Given the description of an element on the screen output the (x, y) to click on. 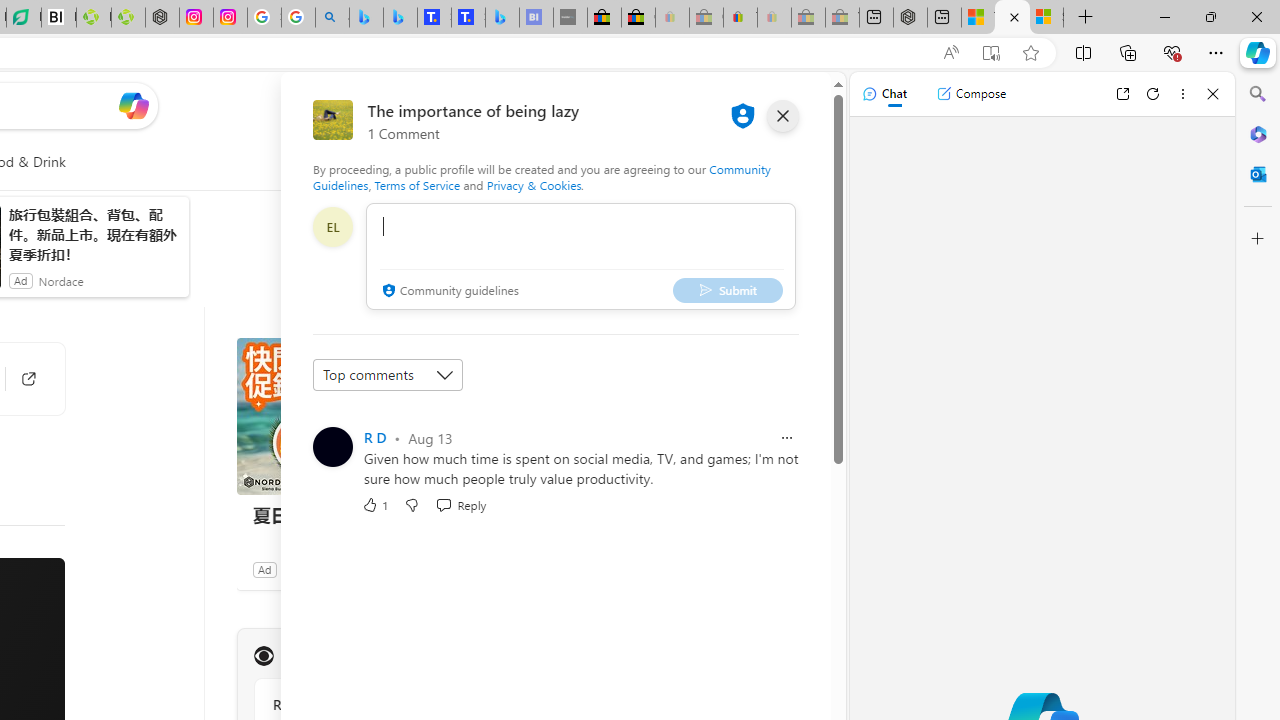
Descarga Driver Updater (127, 17)
Sort comments by (388, 374)
CBS News (263, 655)
Microsoft Bing Travel - Stays in Bangkok, Bangkok, Thailand (400, 17)
Submit (728, 290)
Terms of Service (416, 184)
Chat (884, 93)
